Given the description of an element on the screen output the (x, y) to click on. 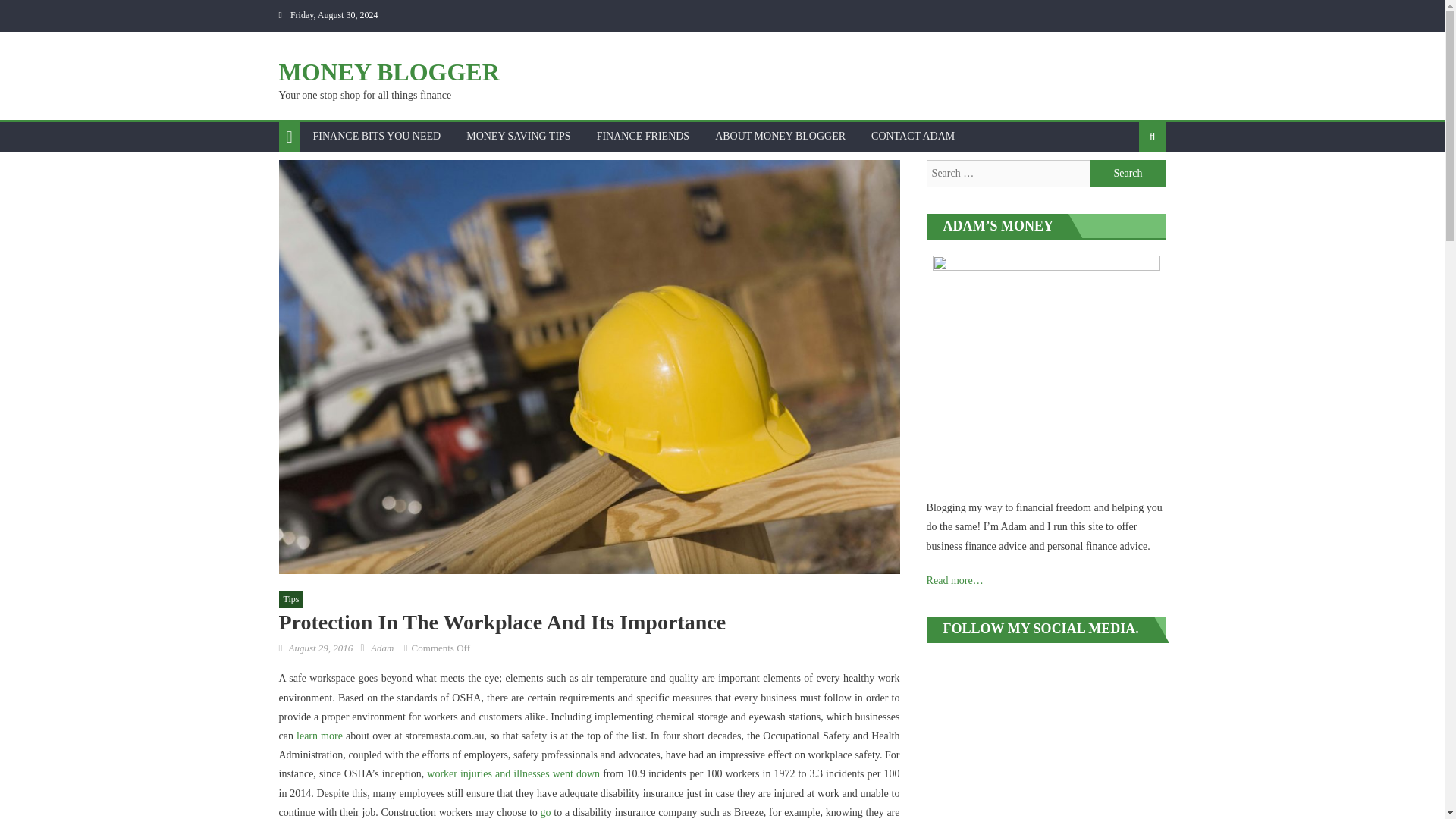
MONEY SAVING TIPS (517, 136)
FINANCE BITS YOU NEED (376, 136)
Search (1128, 173)
Tips (291, 599)
August 29, 2016 (320, 647)
learn more (319, 736)
worker injuries and illnesses went down (512, 773)
CONTACT ADAM (913, 136)
FINANCE FRIENDS (643, 136)
go (545, 812)
